Given the description of an element on the screen output the (x, y) to click on. 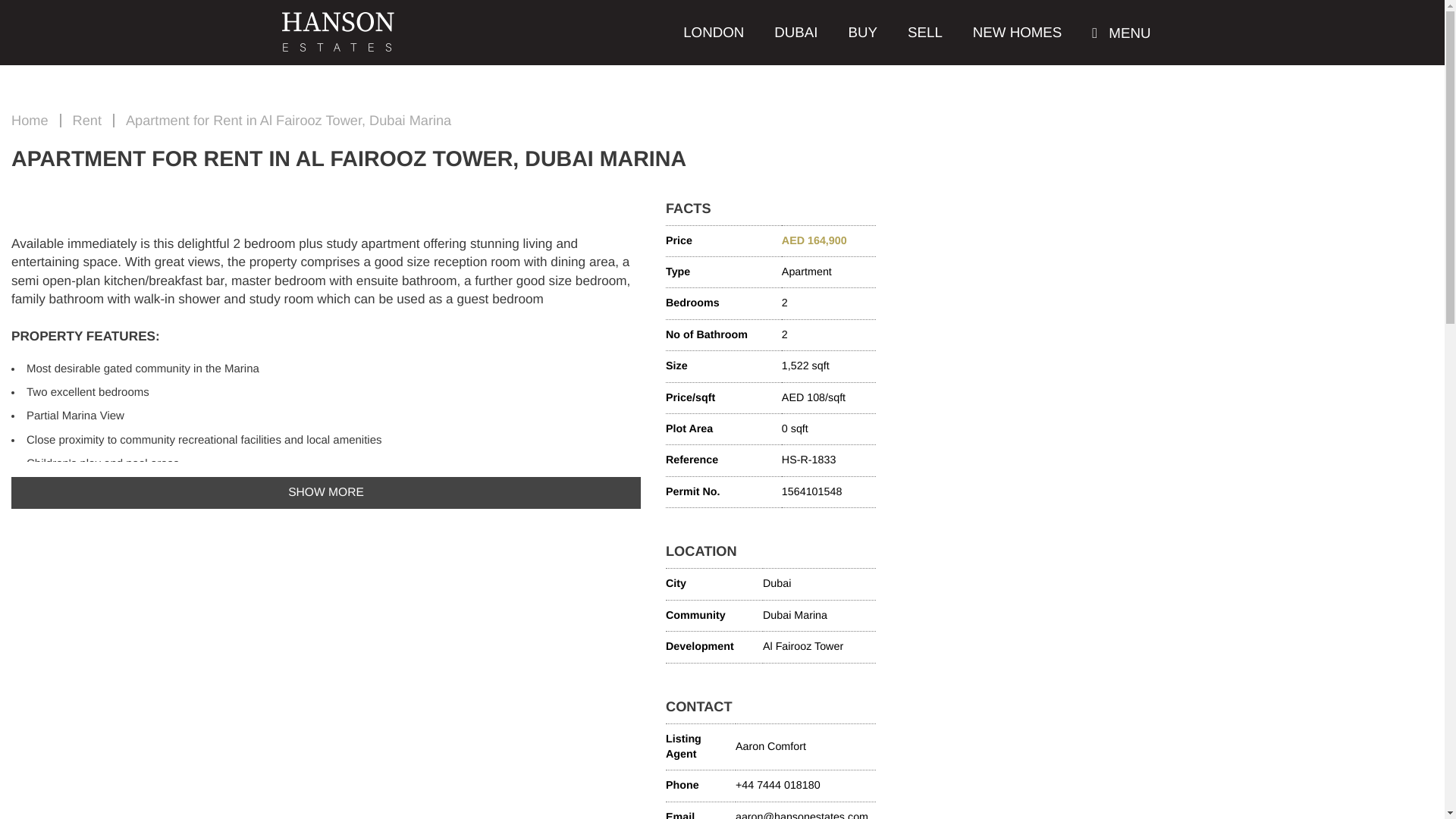
Home (29, 120)
BUY (862, 33)
DUBAI (795, 33)
Rent (86, 120)
LONDON (713, 33)
